Given the description of an element on the screen output the (x, y) to click on. 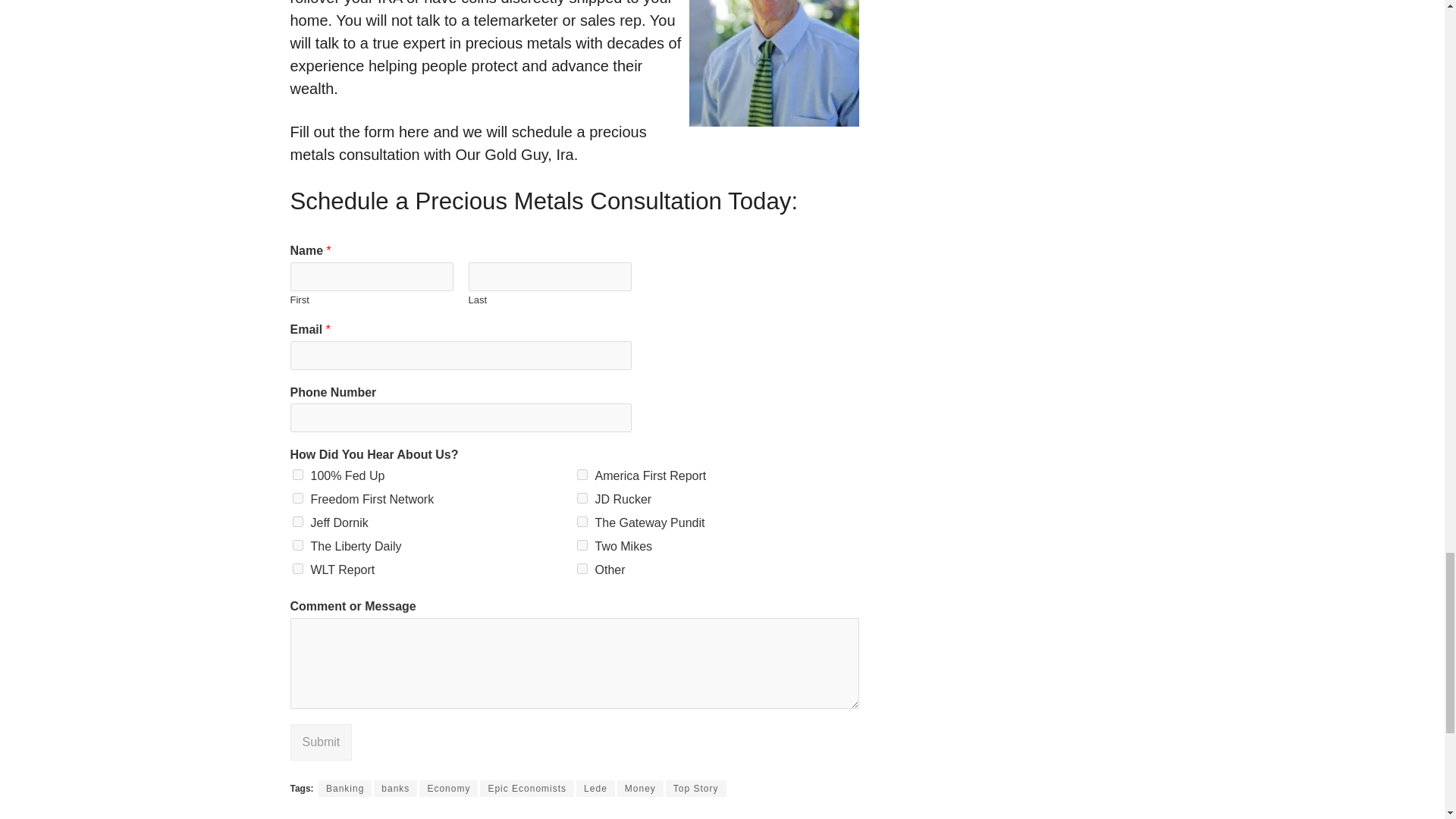
JD Rucker (581, 498)
Lede (595, 788)
The Gateway Pundit (581, 521)
Other (581, 568)
Submit (320, 741)
Freedom First Network (297, 498)
The Liberty Daily (297, 544)
Money (640, 788)
Two Mikes (581, 544)
Top Story (695, 788)
Epic Economists (526, 788)
Economy (448, 788)
Jeff Dornik (297, 521)
WLT Report (297, 568)
banks (395, 788)
